Given the description of an element on the screen output the (x, y) to click on. 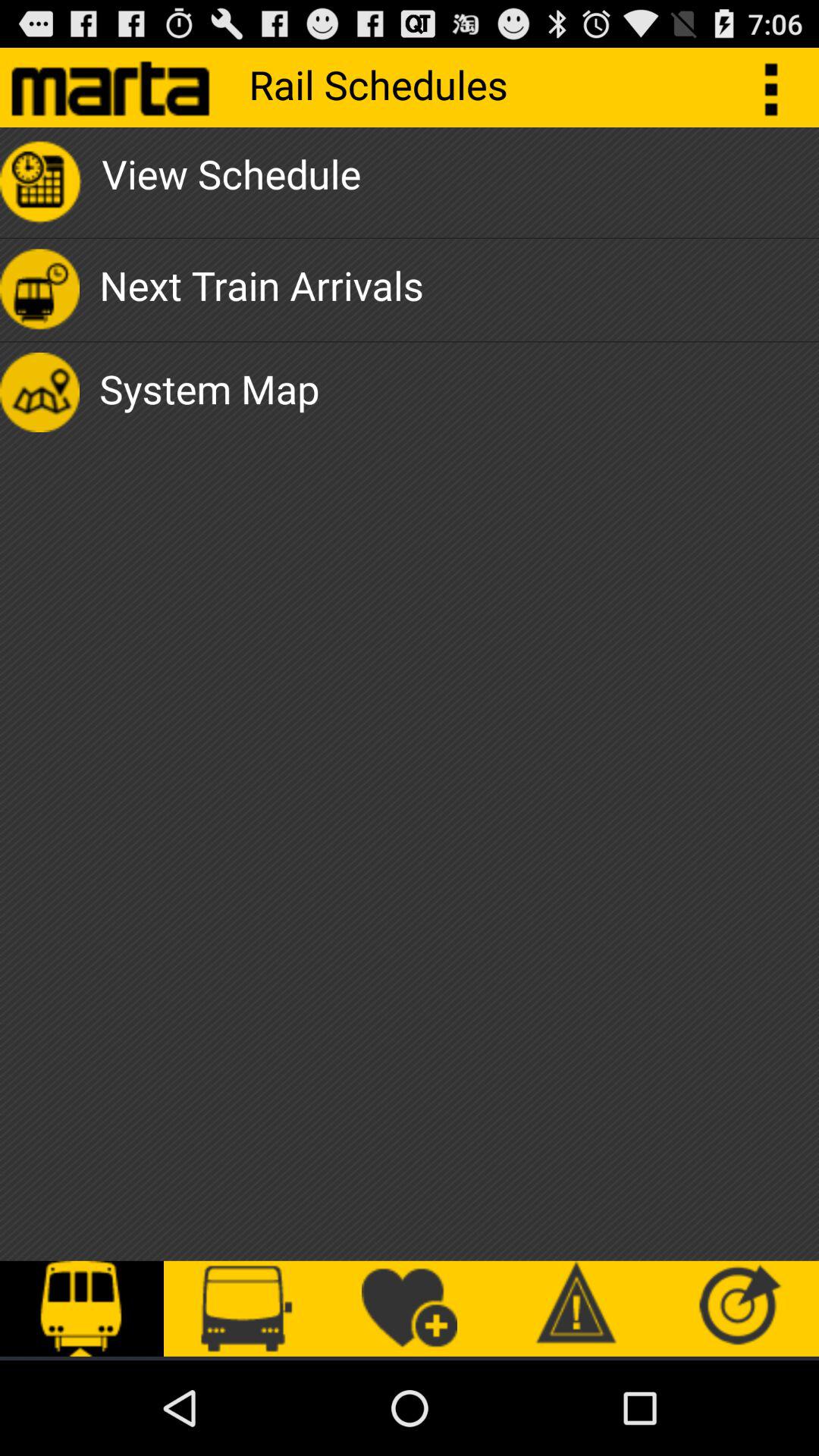
click the next train arrivals app (261, 289)
